Given the description of an element on the screen output the (x, y) to click on. 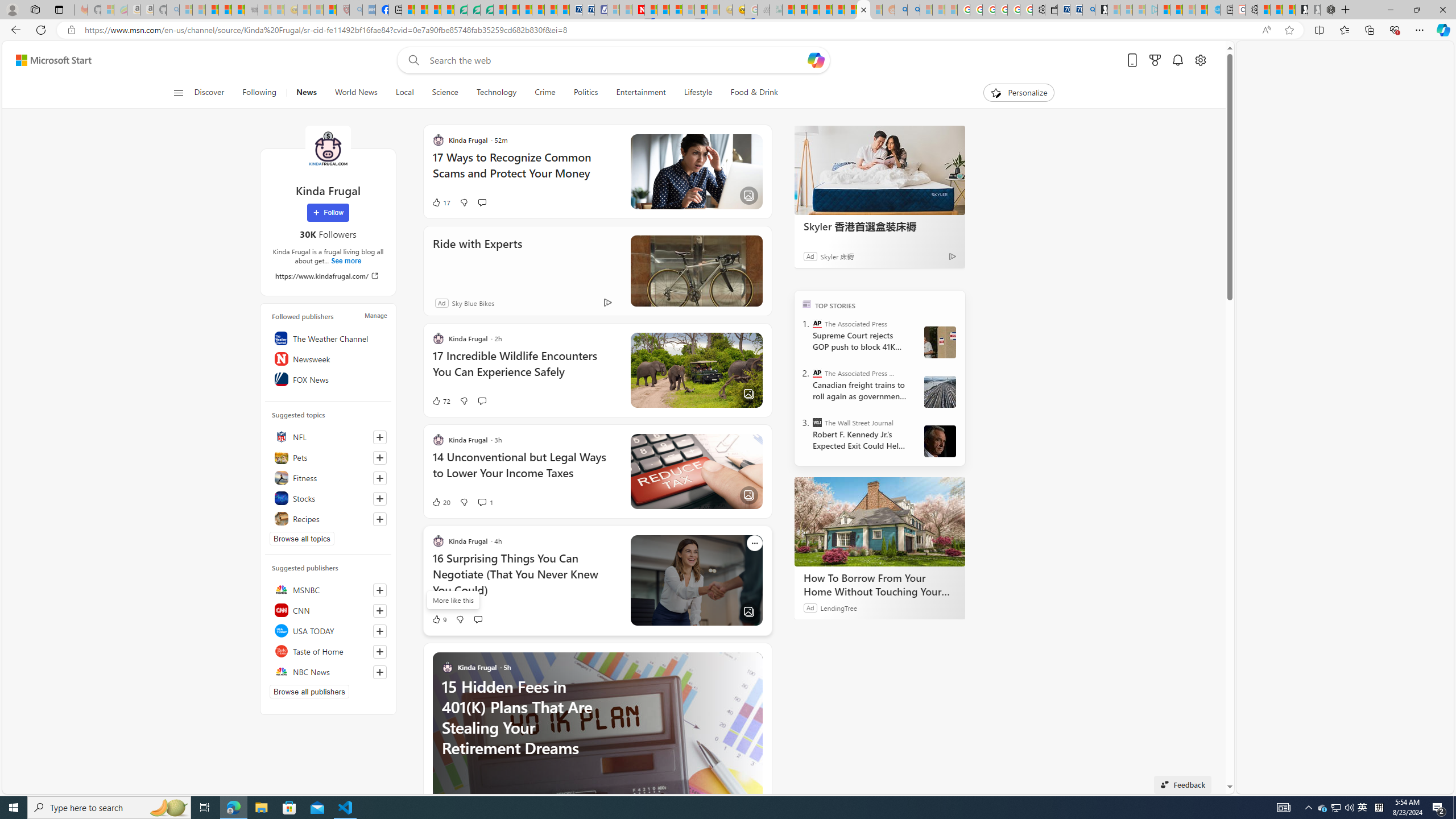
Open Copilot (816, 59)
Cheap Car Rentals - Save70.com (1076, 9)
MSNBC - MSN (788, 9)
Ride with Experts (477, 259)
The Weather Channel - MSN (212, 9)
14 Unconventional but Legal Ways to Lower Your Income Taxes (524, 470)
 Canada Railroads Unions (940, 391)
FOX News (327, 379)
